Given the description of an element on the screen output the (x, y) to click on. 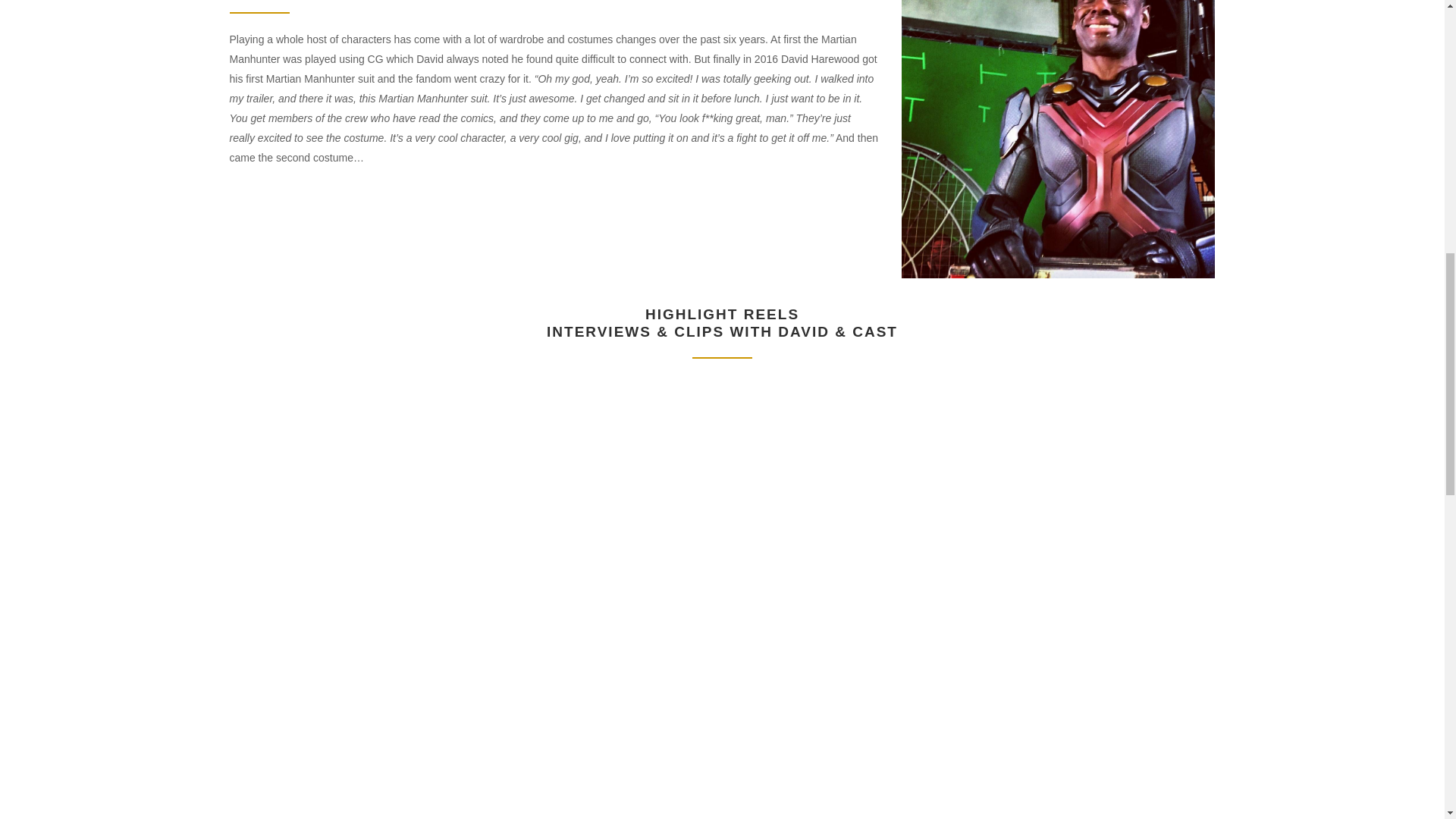
'Supergirl' star is happy to direct - and to have pants. (1057, 749)
